Given the description of an element on the screen output the (x, y) to click on. 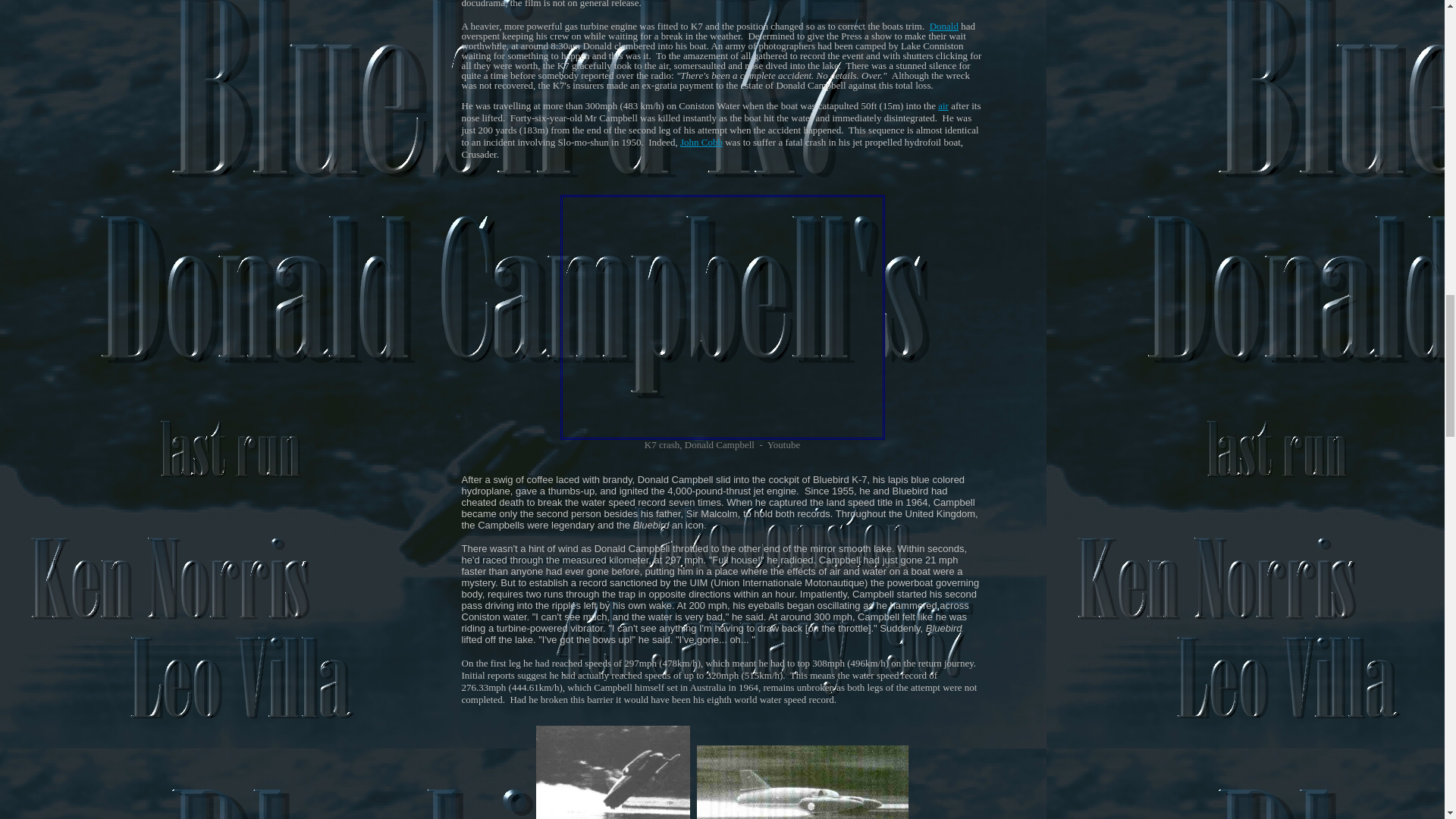
air (943, 105)
John Cobb (700, 142)
Donald (944, 25)
